Given the description of an element on the screen output the (x, y) to click on. 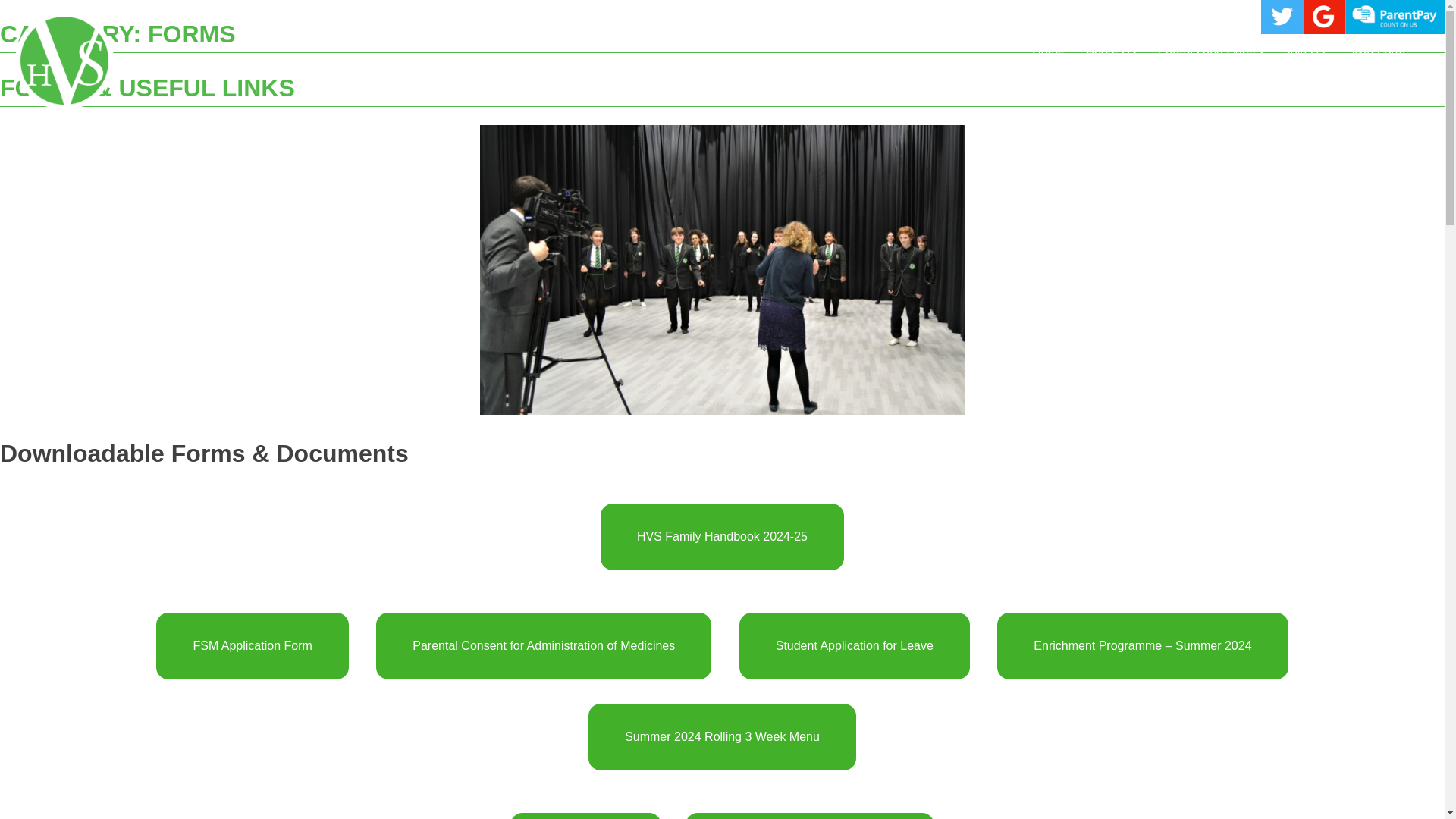
Parents and Carers (1210, 51)
Home (1048, 51)
Join Us (1304, 51)
About Us (1110, 51)
